Given the description of an element on the screen output the (x, y) to click on. 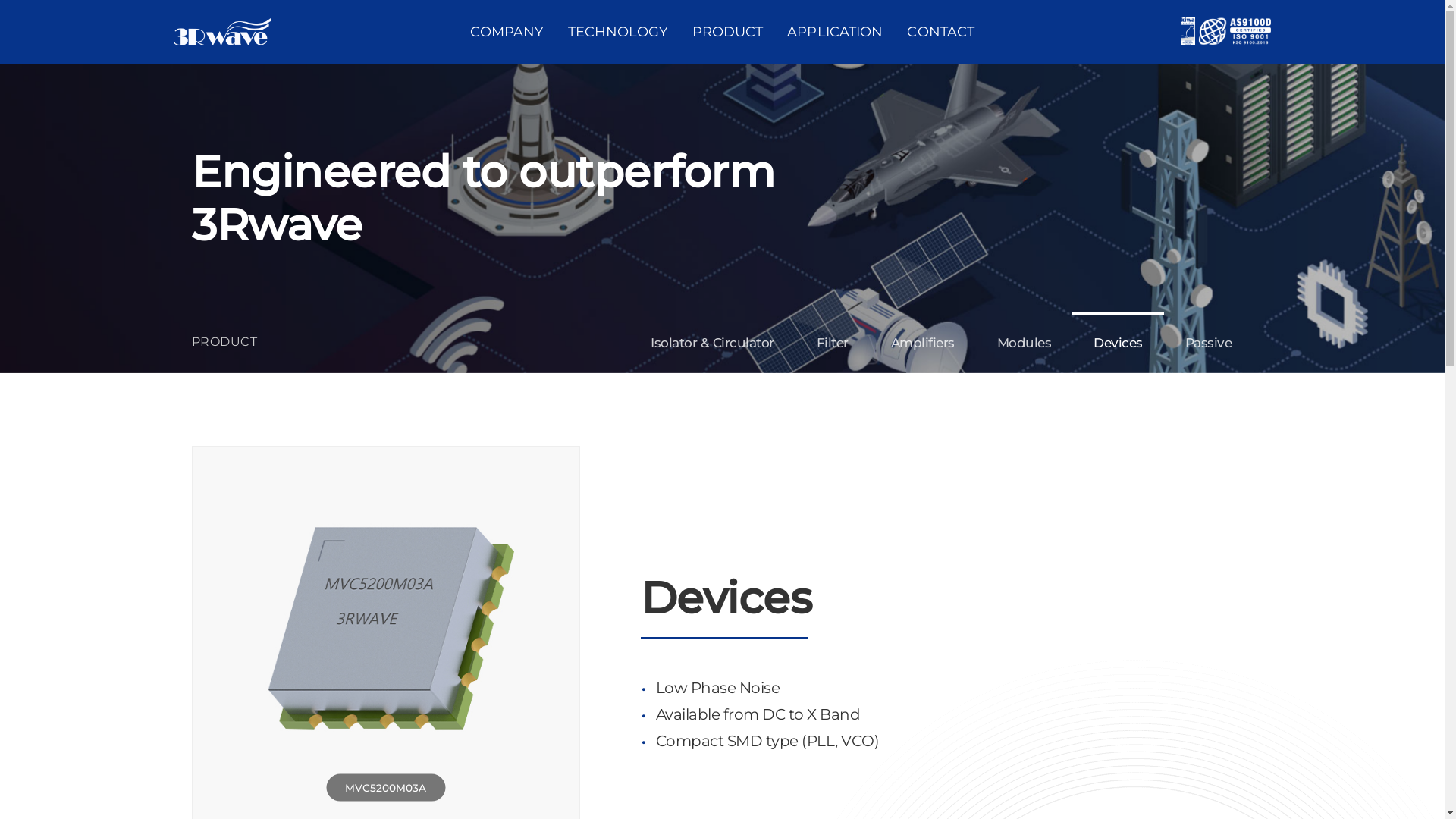
Modules Element type: text (1024, 342)
Passive Element type: text (1208, 342)
COMPANY Element type: text (506, 31)
Isolator & Circulator Element type: text (712, 342)
APPLICATION Element type: text (834, 31)
TECHNOLOGY Element type: text (617, 31)
Devices Element type: text (1118, 342)
PRODUCT Element type: text (727, 31)
Filter Element type: text (832, 342)
Amplifiers Element type: text (922, 342)
CONTACT Element type: text (940, 31)
